Given the description of an element on the screen output the (x, y) to click on. 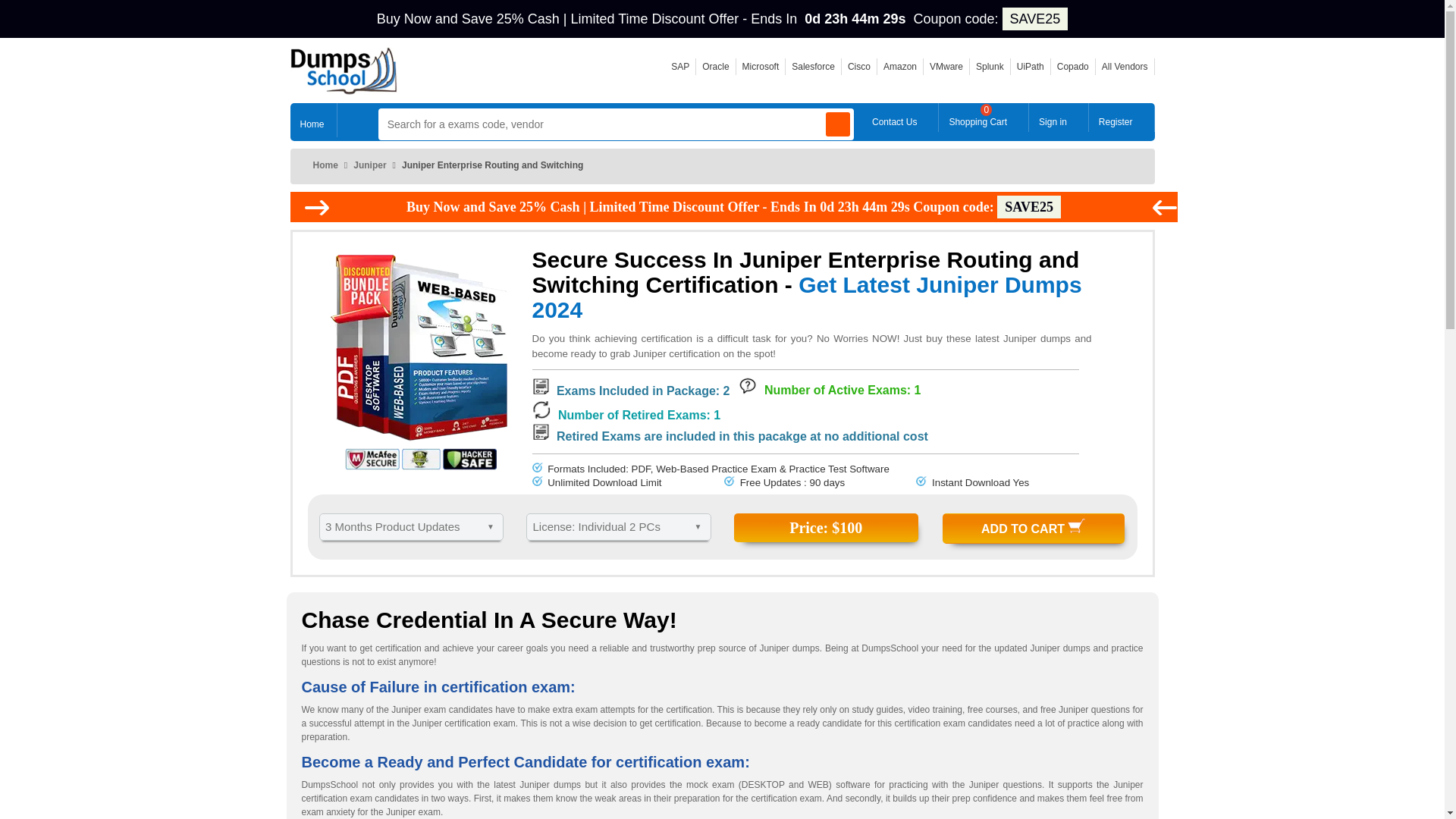
Home (312, 120)
ADD TO CART (1033, 528)
Juniper (369, 164)
All Vendors (1125, 66)
Amazon (900, 66)
VMware (946, 66)
Contact Us (899, 117)
Cisco (858, 66)
SAP (983, 117)
UiPath (679, 66)
Splunk (1029, 66)
Copado (989, 66)
Oracle (1073, 66)
Search-btn (715, 66)
